Given the description of an element on the screen output the (x, y) to click on. 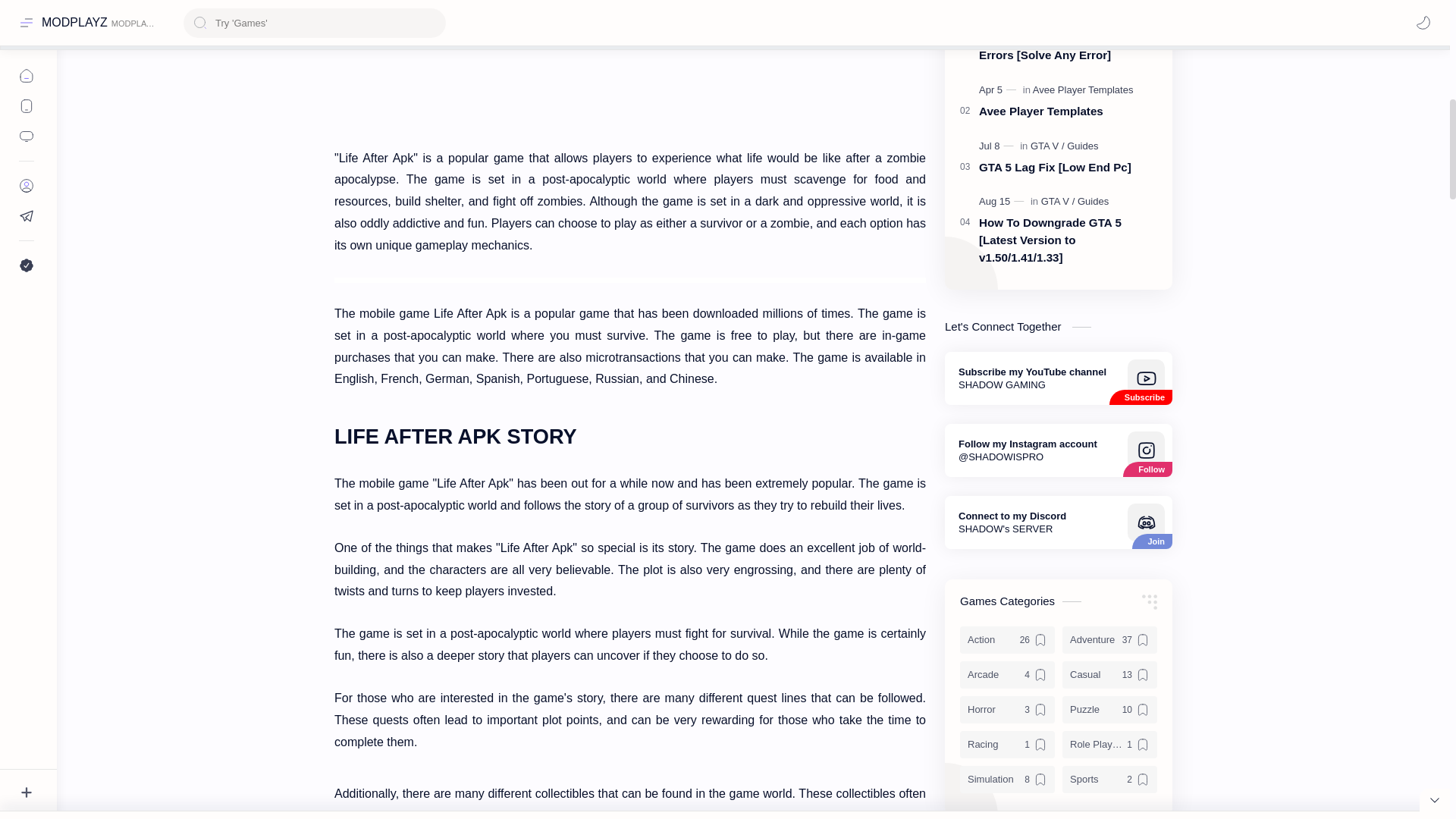
Life After Apk (630, 63)
